Given the description of an element on the screen output the (x, y) to click on. 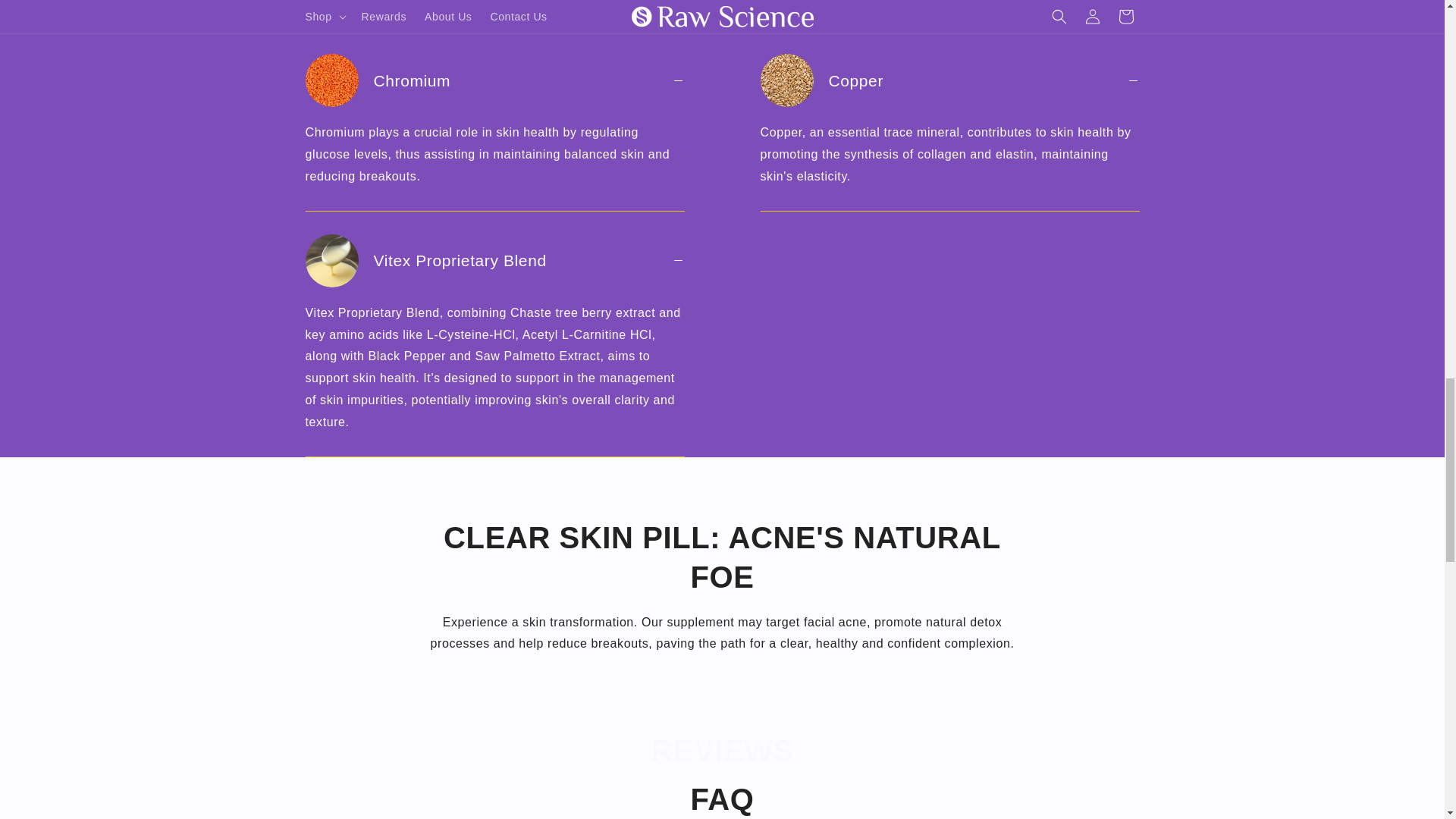
REVIEWS (721, 750)
